Given the description of an element on the screen output the (x, y) to click on. 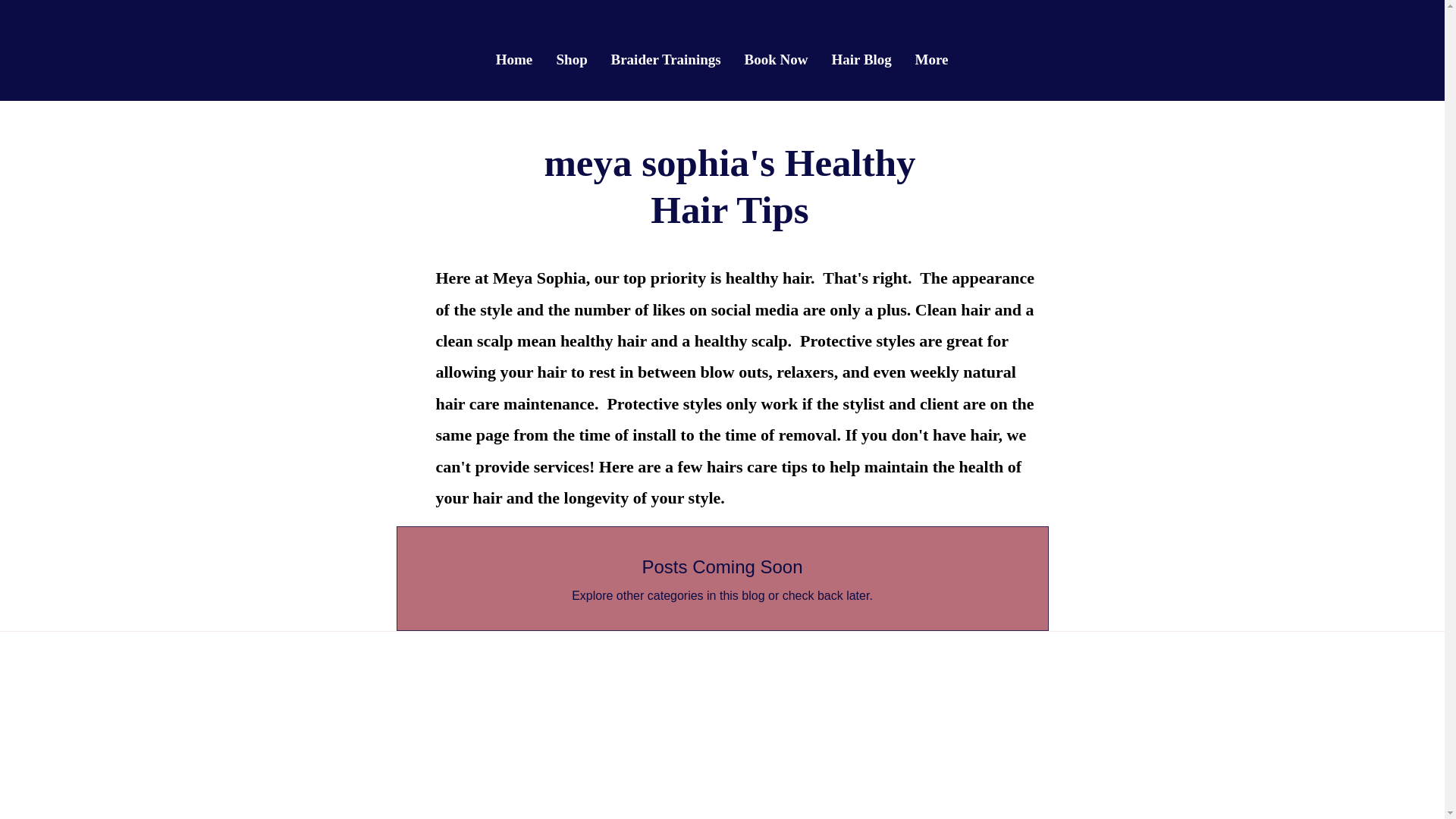
Braider Trainings (665, 58)
Hair Blog (861, 58)
Book Now (775, 58)
Home (513, 58)
Shop (571, 58)
